Given the description of an element on the screen output the (x, y) to click on. 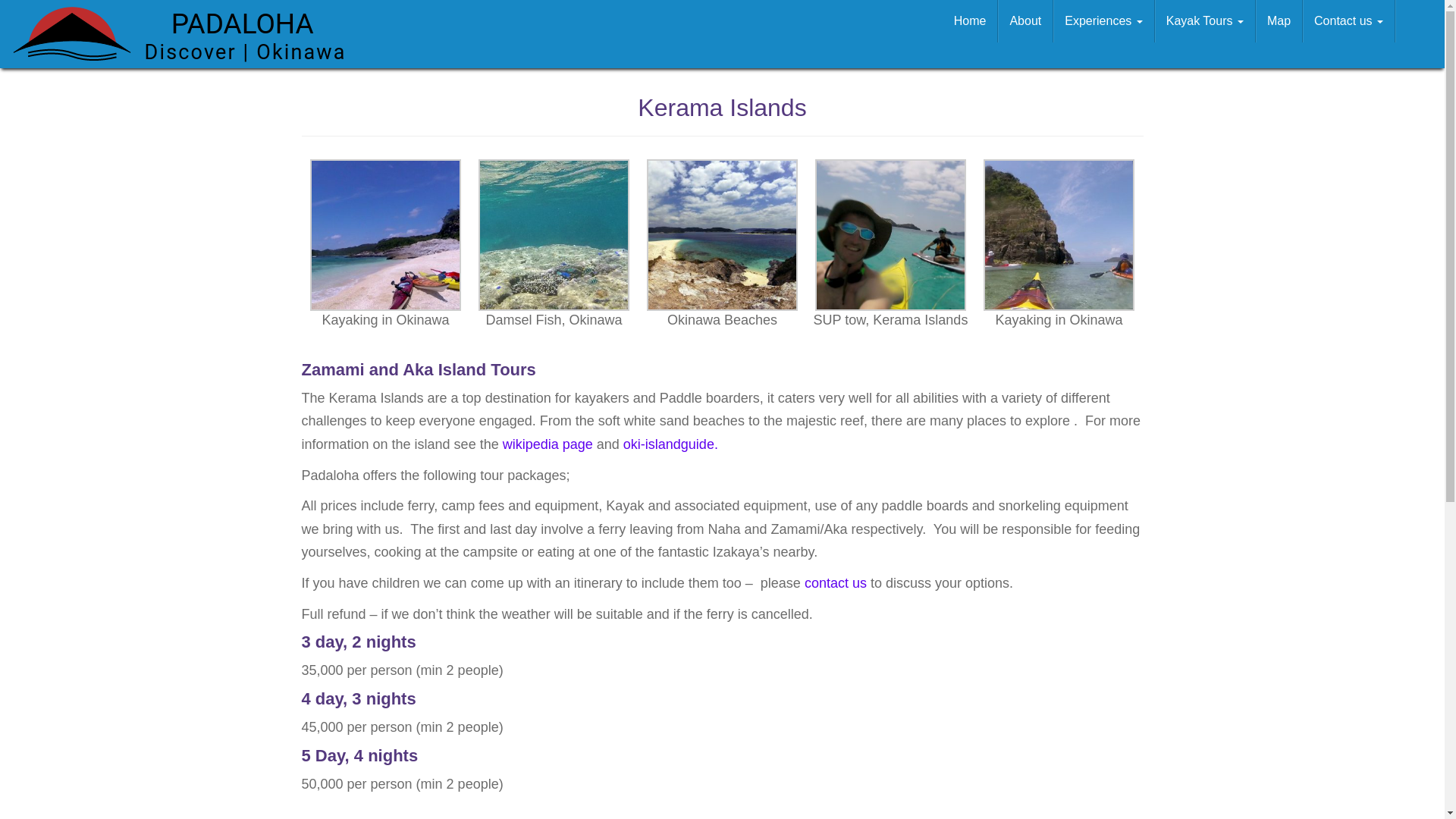
Map (1279, 21)
Contact us (1348, 21)
About (1024, 21)
contact us (835, 582)
Home (970, 21)
Home (970, 21)
Kayak Tours (1204, 21)
Experiences (1103, 21)
Kayak Tours (1204, 21)
Contact us (1348, 21)
